Given the description of an element on the screen output the (x, y) to click on. 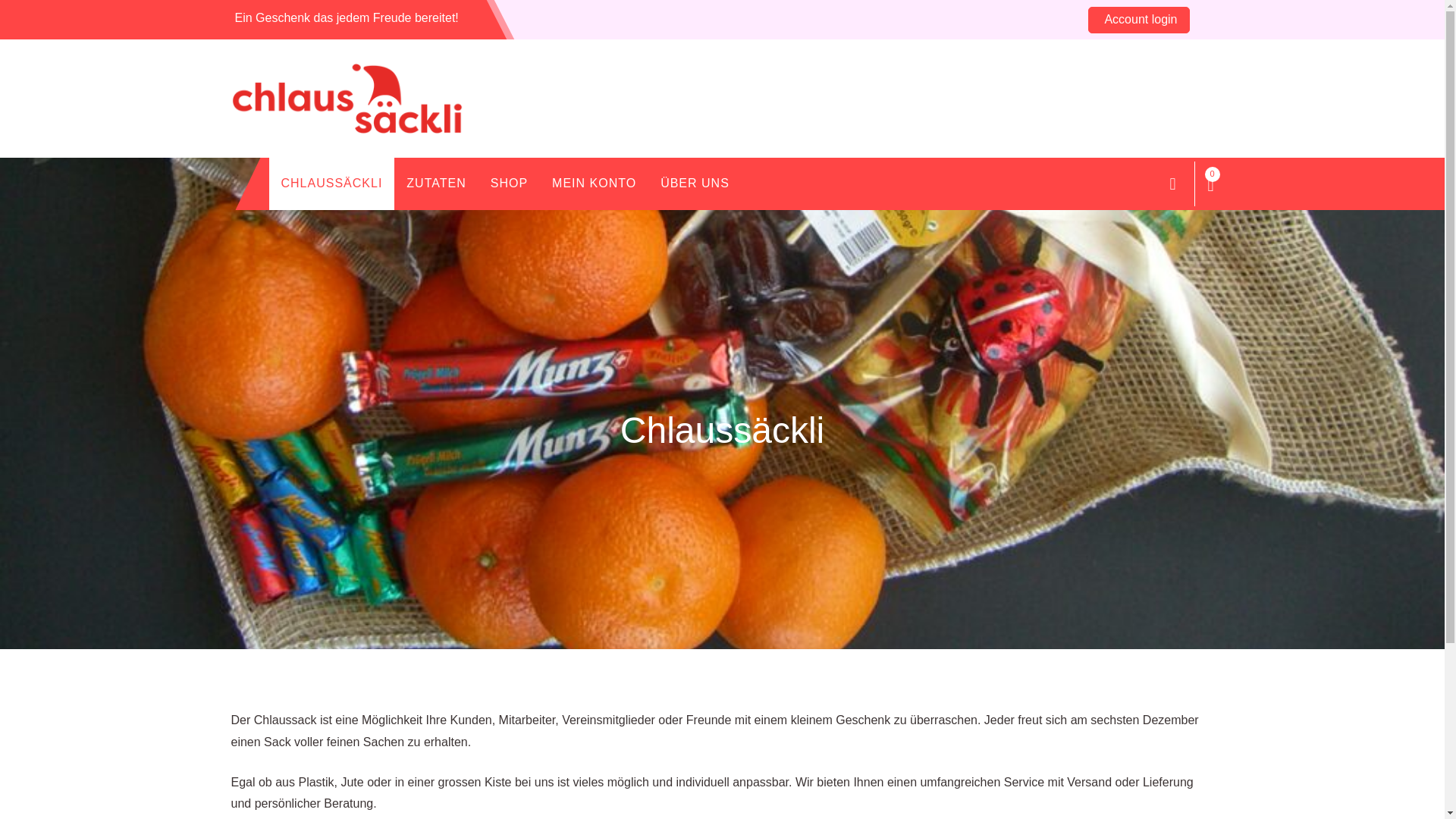
Search Element type: hover (1172, 183)
ZUTATEN Element type: text (435, 183)
SHOP Element type: text (508, 183)
Account login Element type: text (1138, 19)
MEIN KONTO Element type: text (593, 183)
0 Element type: text (1210, 183)
